Given the description of an element on the screen output the (x, y) to click on. 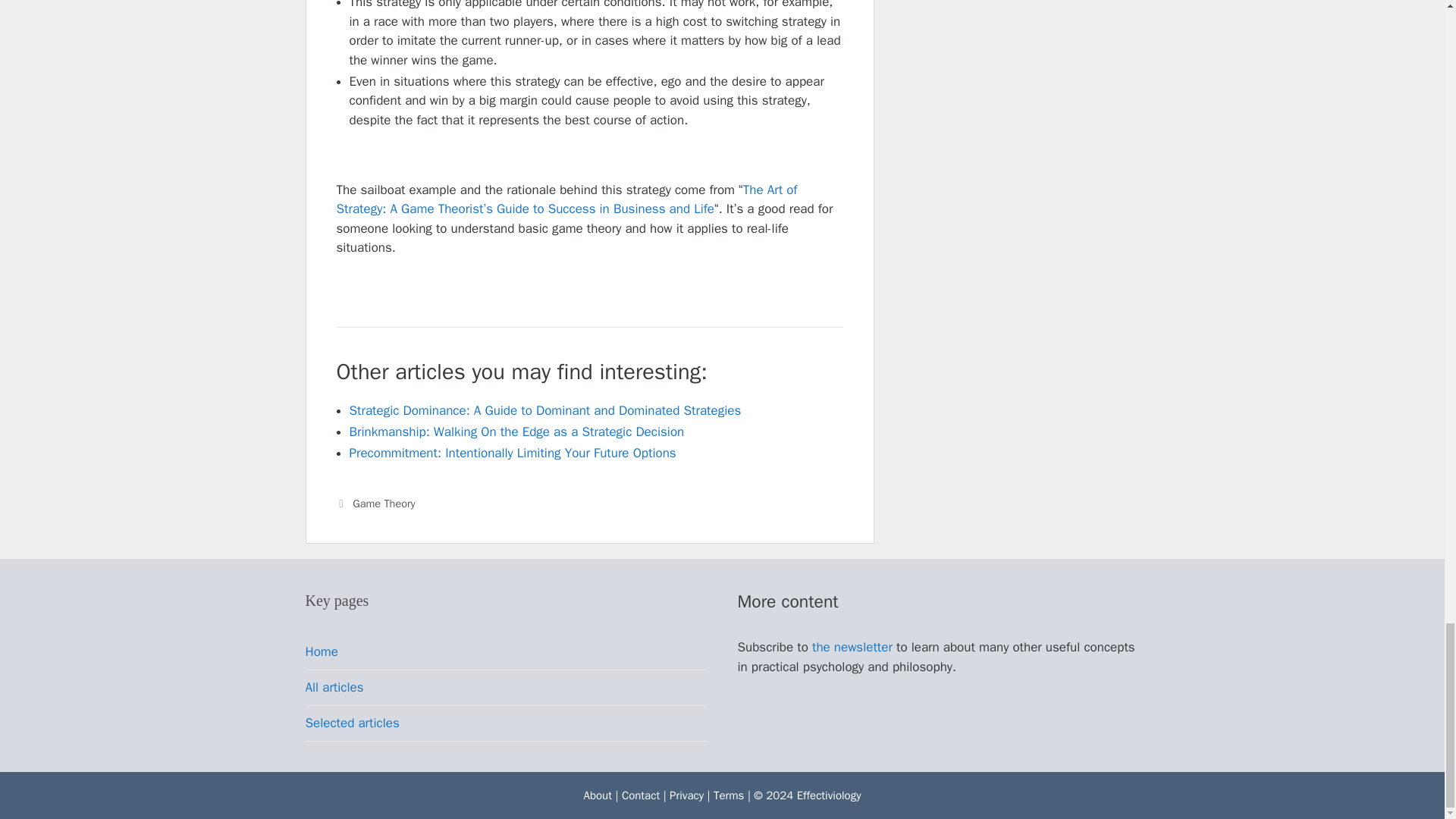
Contact (640, 795)
Terms (728, 795)
Game Theory (383, 503)
the newsletter (852, 647)
Home (320, 651)
Precommitment: Intentionally Limiting Your Future Options (512, 453)
Selected articles (351, 722)
About (597, 795)
Privacy (686, 795)
